Given the description of an element on the screen output the (x, y) to click on. 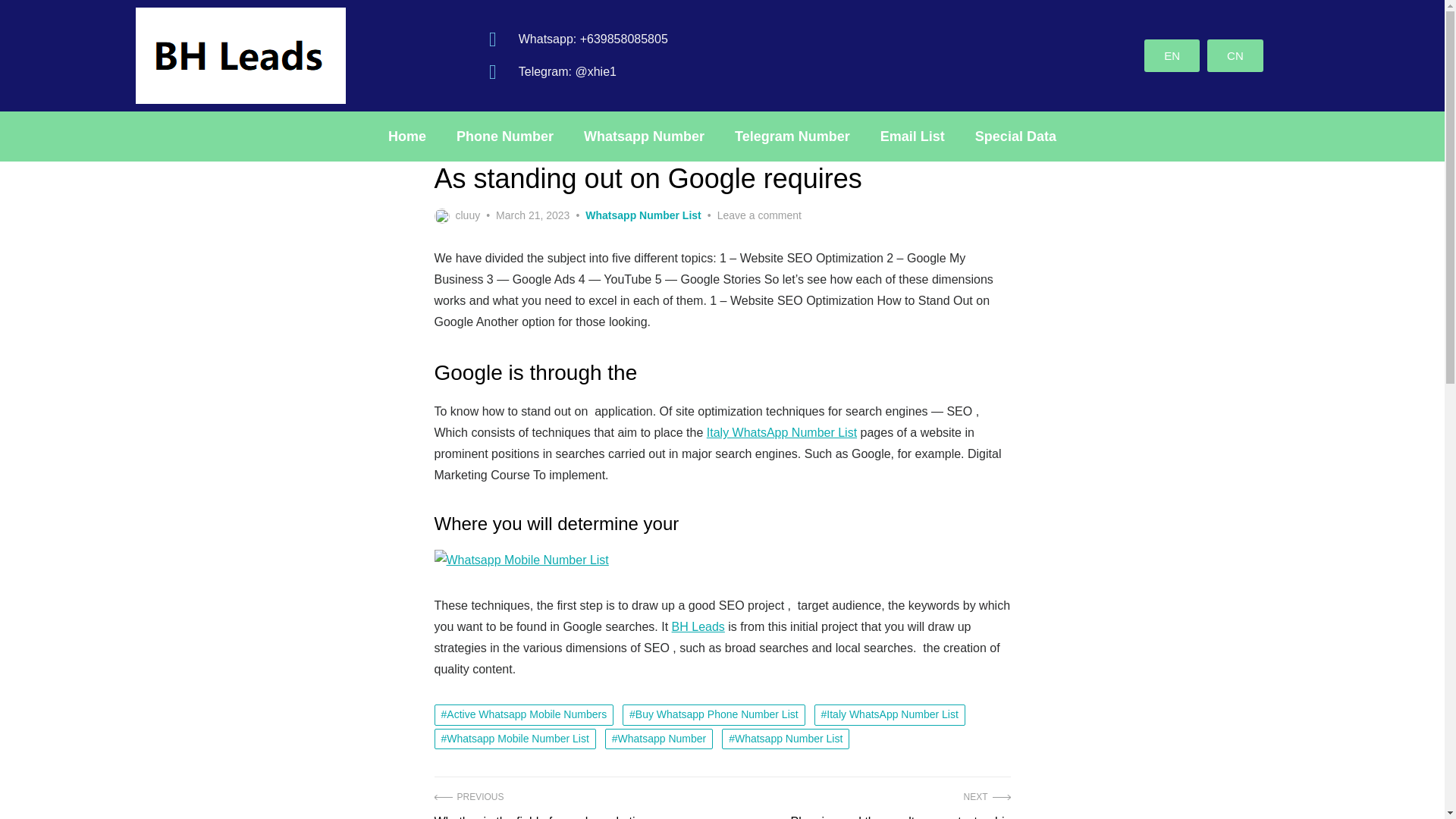
Whatsapp Number (659, 739)
Buy Whatsapp Phone Number List (714, 714)
Leave a comment (759, 215)
Whatsapp Mobile Number List (514, 739)
Italy WhatsApp Number List (781, 431)
March 21, 2023 (532, 215)
Whatsapp Number List (642, 215)
Telegram Number (791, 135)
Email List (911, 135)
cluuy (456, 215)
CN (1235, 55)
EN (900, 804)
Whatsapp Number List (1171, 55)
Phone Number (785, 739)
